Given the description of an element on the screen output the (x, y) to click on. 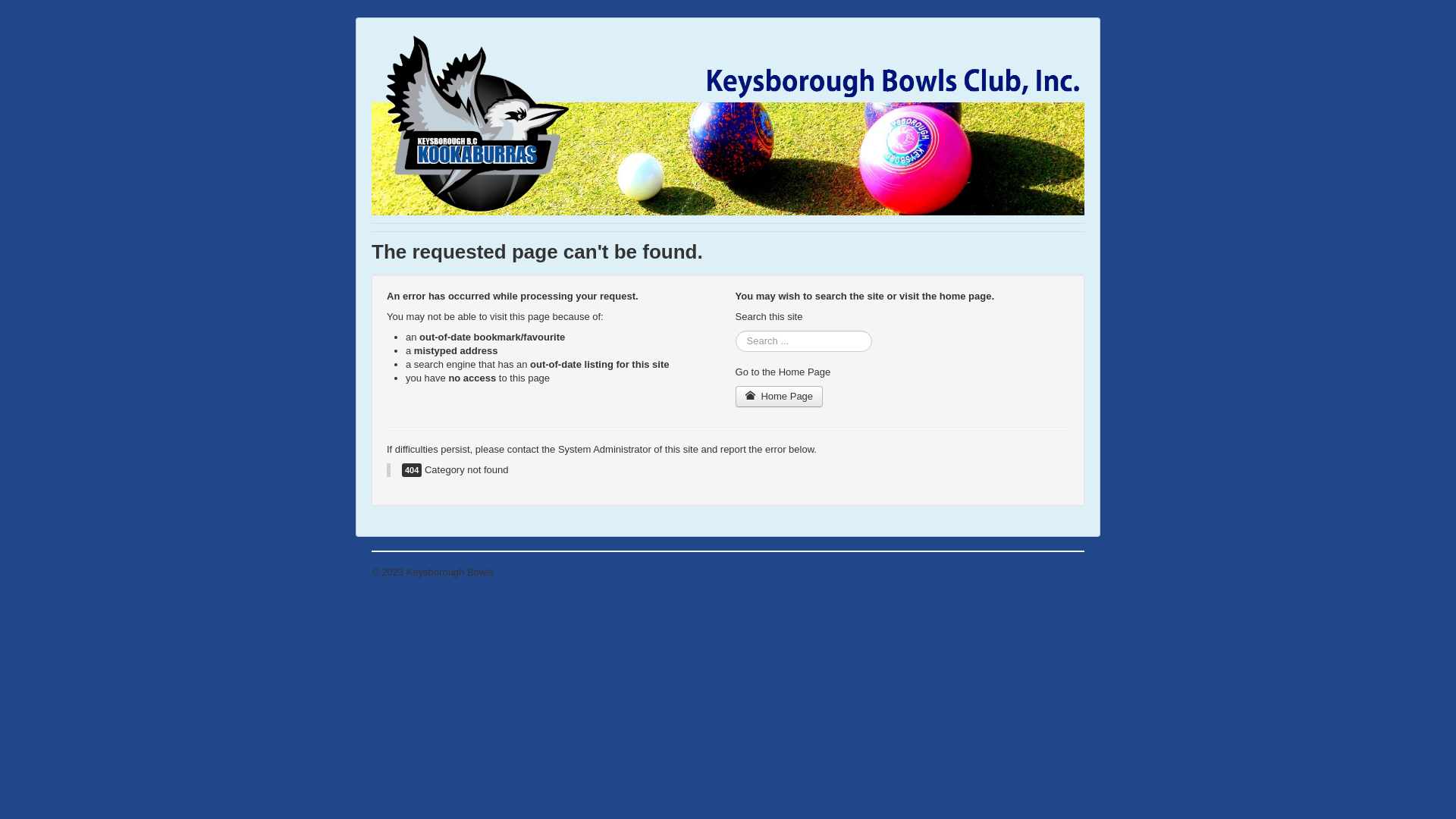
Back to Top Element type: text (1058, 571)
Home Page Element type: text (779, 396)
